Given the description of an element on the screen output the (x, y) to click on. 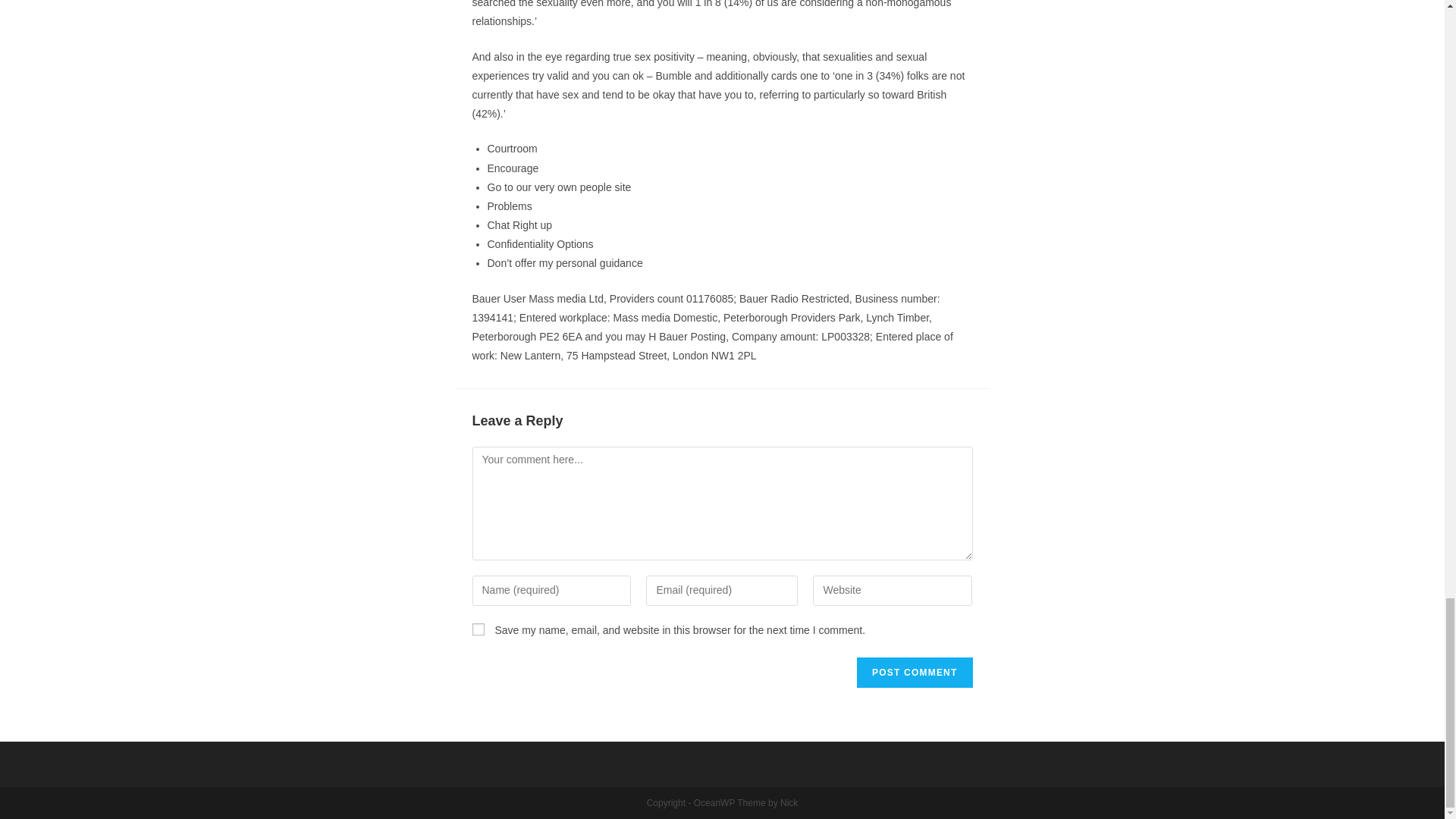
Post Comment (914, 672)
Post Comment (914, 672)
yes (477, 629)
